Given the description of an element on the screen output the (x, y) to click on. 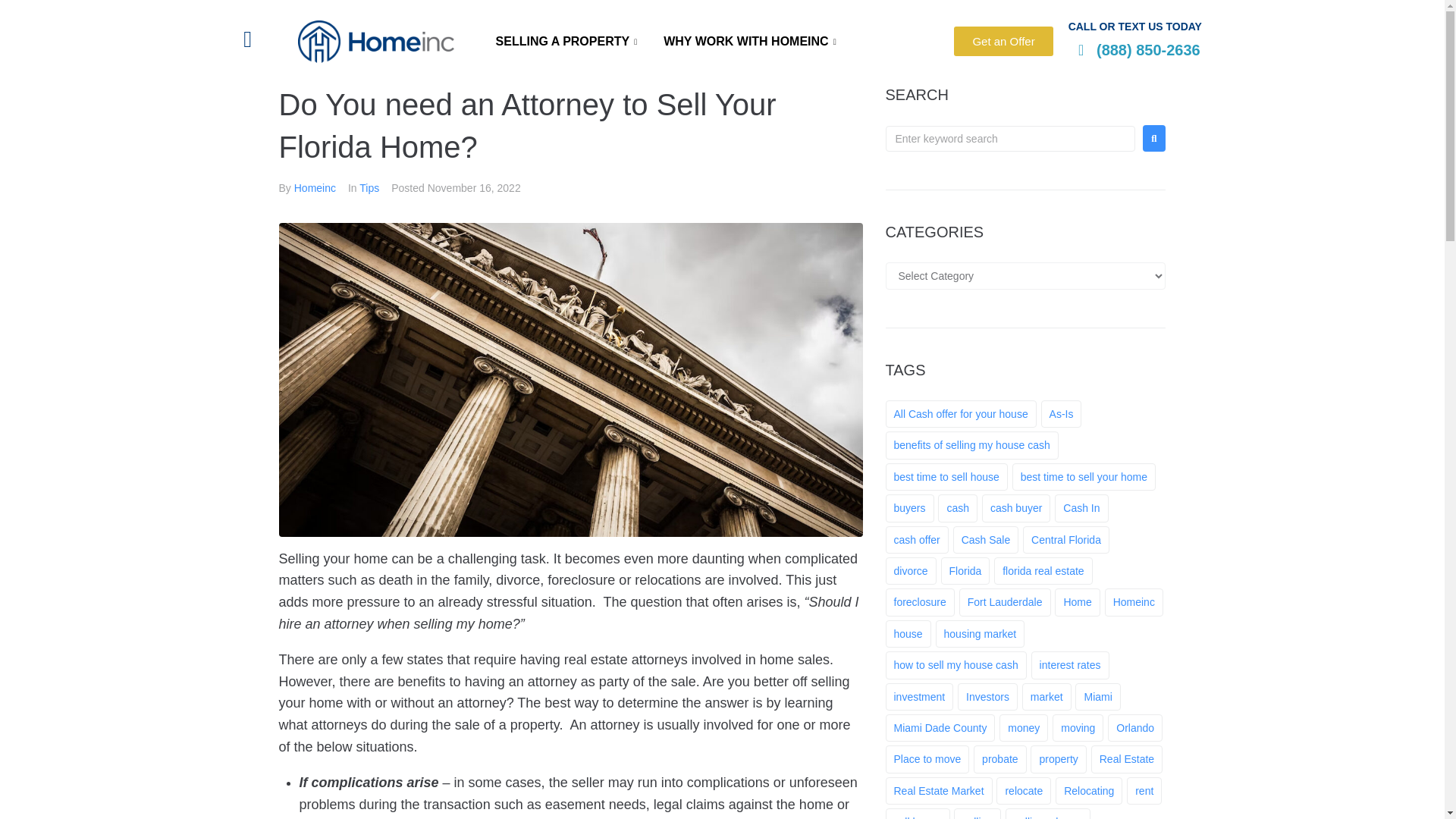
Cash In (1081, 507)
cash (956, 507)
Tips (368, 187)
Cash Sale (986, 539)
best time to sell your home (1083, 476)
buyers (909, 507)
Get an Offer (1002, 41)
benefits of selling my house cash (971, 444)
WHY WORK WITH HOMEINC (751, 41)
cash buyer (1015, 507)
